Given the description of an element on the screen output the (x, y) to click on. 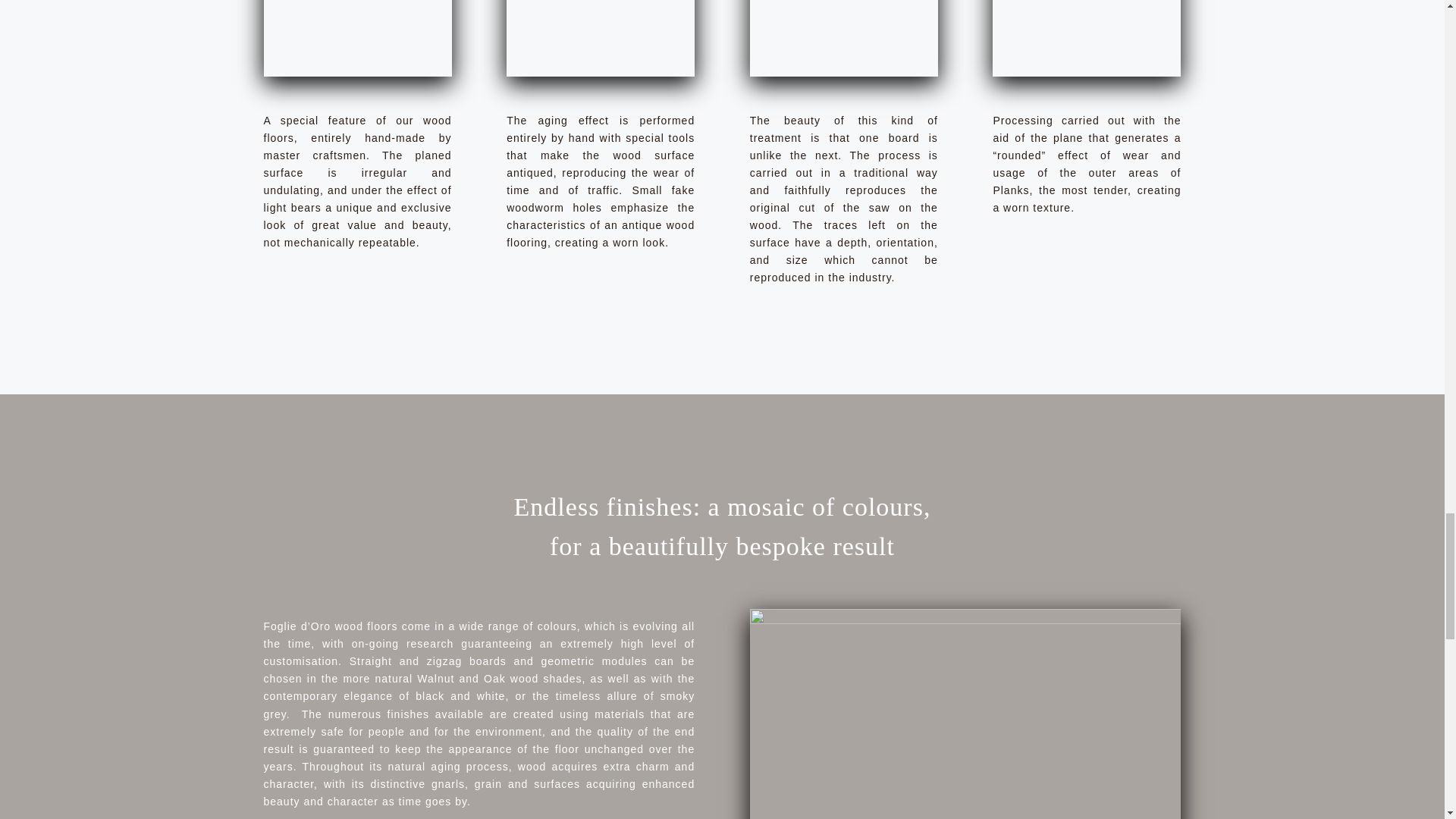
colori (964, 714)
fogliedoro-lavorazioni--anticatura (600, 38)
fogliedoro-lavorazioni--bombatura (1086, 38)
